Given the description of an element on the screen output the (x, y) to click on. 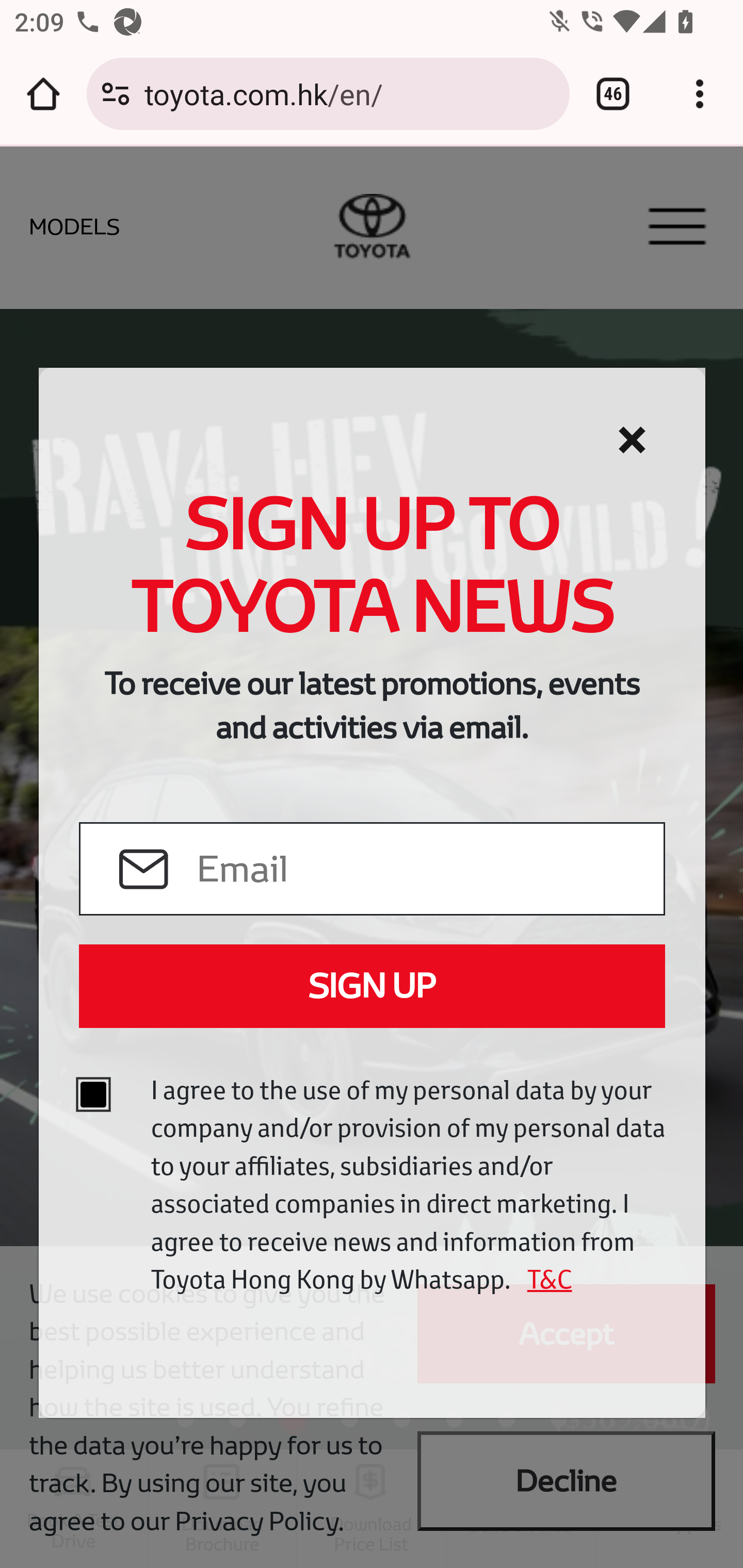
Open the home page (43, 93)
Connection is secure (115, 93)
Switch or close tabs (612, 93)
Customize and control Google Chrome (699, 93)
toyota.com.hk/en/ (349, 92)
Cerrar (631, 440)
SIGN UP (371, 985)
T&C (543, 1279)
